Given the description of an element on the screen output the (x, y) to click on. 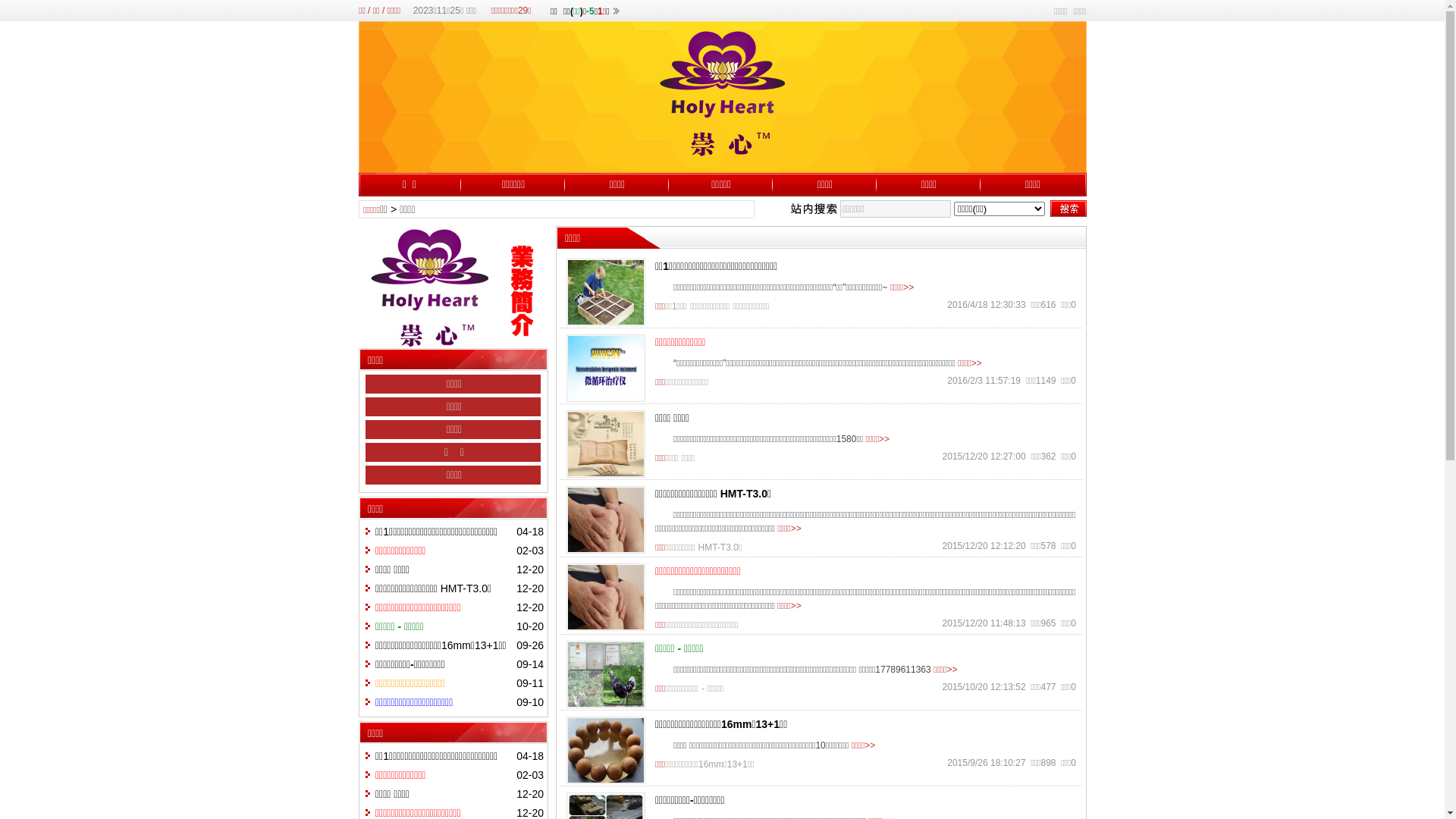
- Element type: text (702, 688)
